Given the description of an element on the screen output the (x, y) to click on. 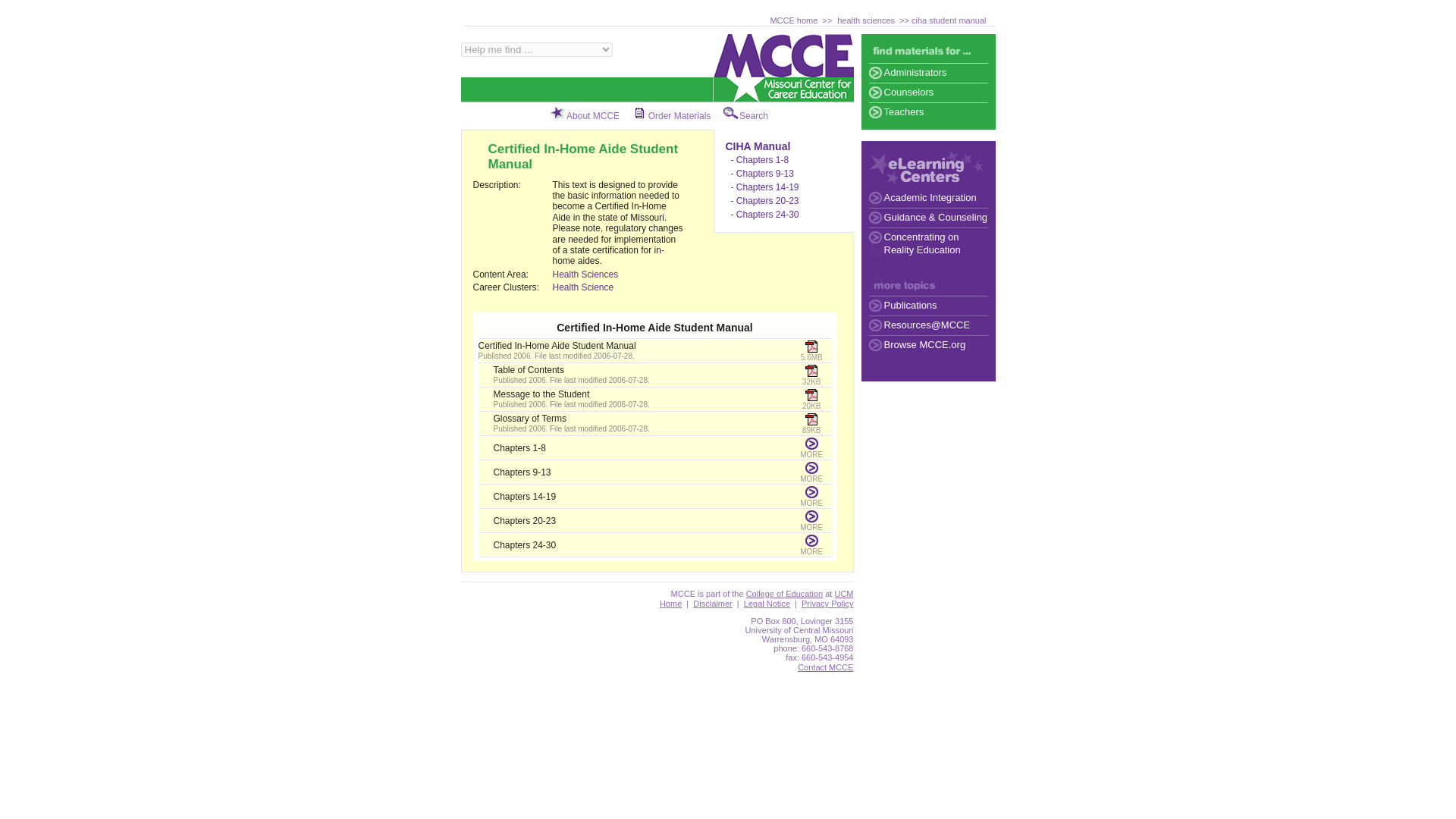
Contact MCCE (825, 666)
- Chapters 14-19 (764, 186)
Health Science (581, 286)
About MCCE (593, 115)
- Chapters 20-23 (764, 200)
- Chapters 24-30 (764, 214)
Concentrating on Reality Education (928, 243)
Disclaimer (712, 603)
Academic Integration (928, 197)
Legal Notice (767, 603)
health sciences (866, 20)
CIHA Manual (757, 146)
UCM (843, 593)
- Chapters 1-8 (759, 159)
Health Sciences (584, 274)
